Given the description of an element on the screen output the (x, y) to click on. 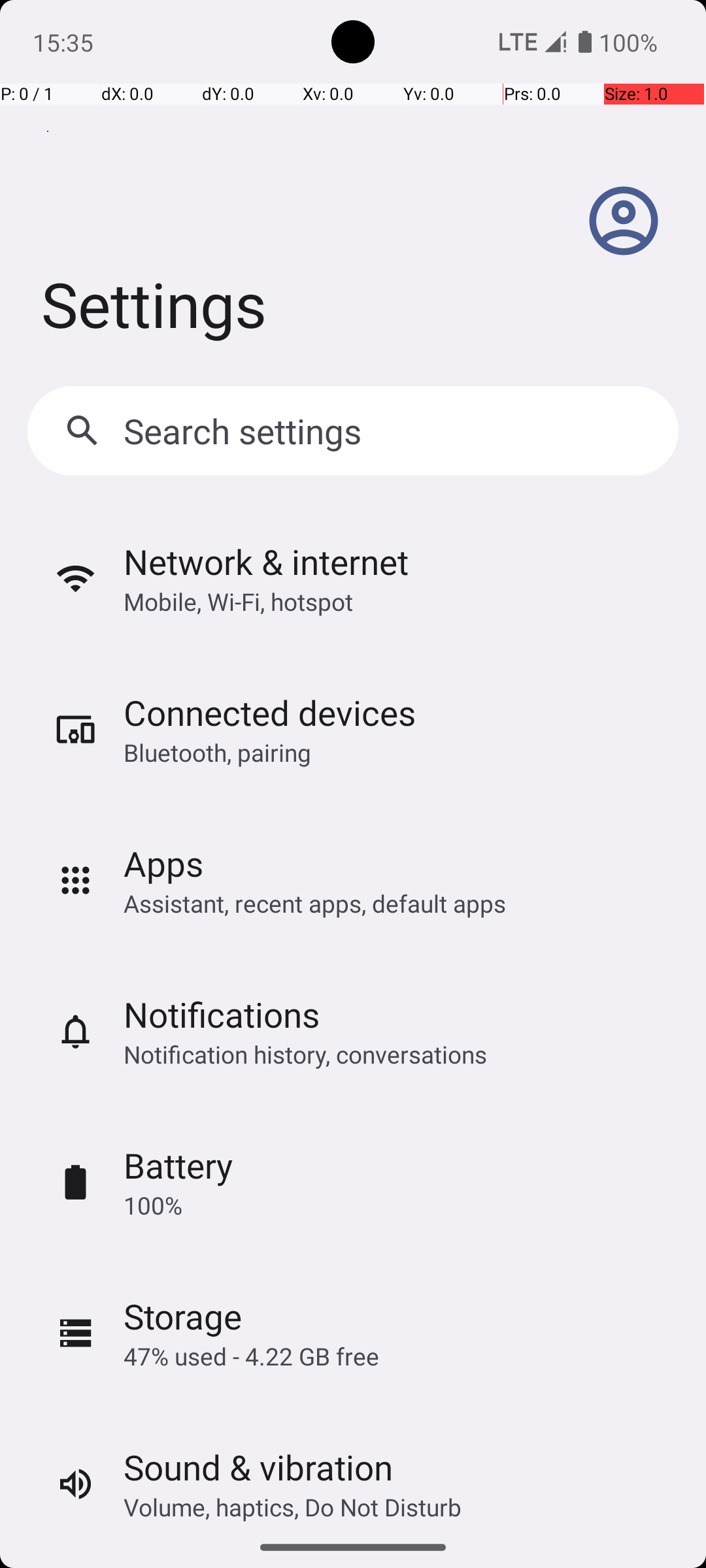
47% used - 4.22 GB free Element type: android.widget.TextView (251, 1355)
